Given the description of an element on the screen output the (x, y) to click on. 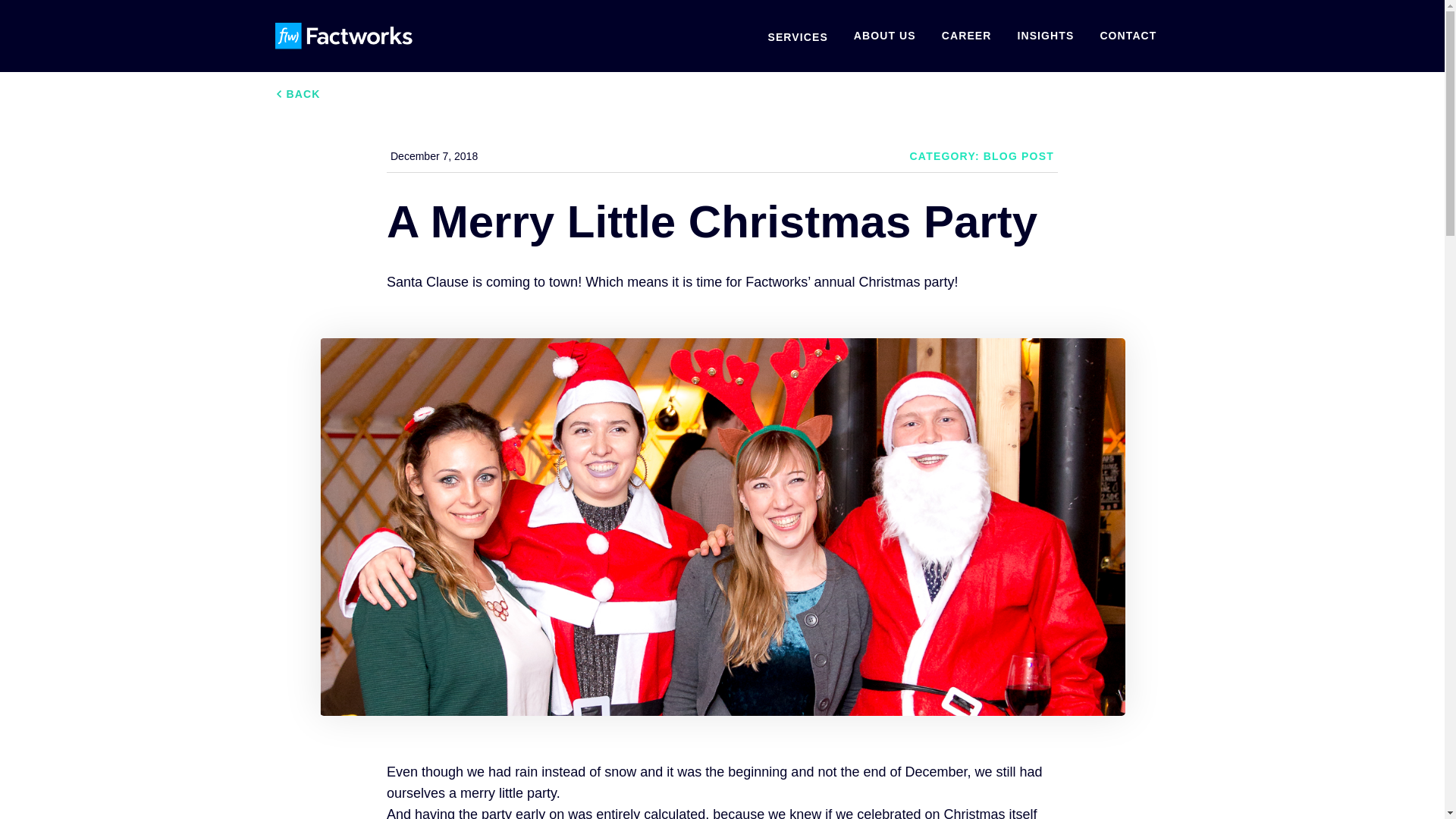
CONTACT (1127, 35)
INSIGHTS (1045, 35)
CAREER (966, 35)
ABOUT US (884, 35)
BACK (297, 93)
